Given the description of an element on the screen output the (x, y) to click on. 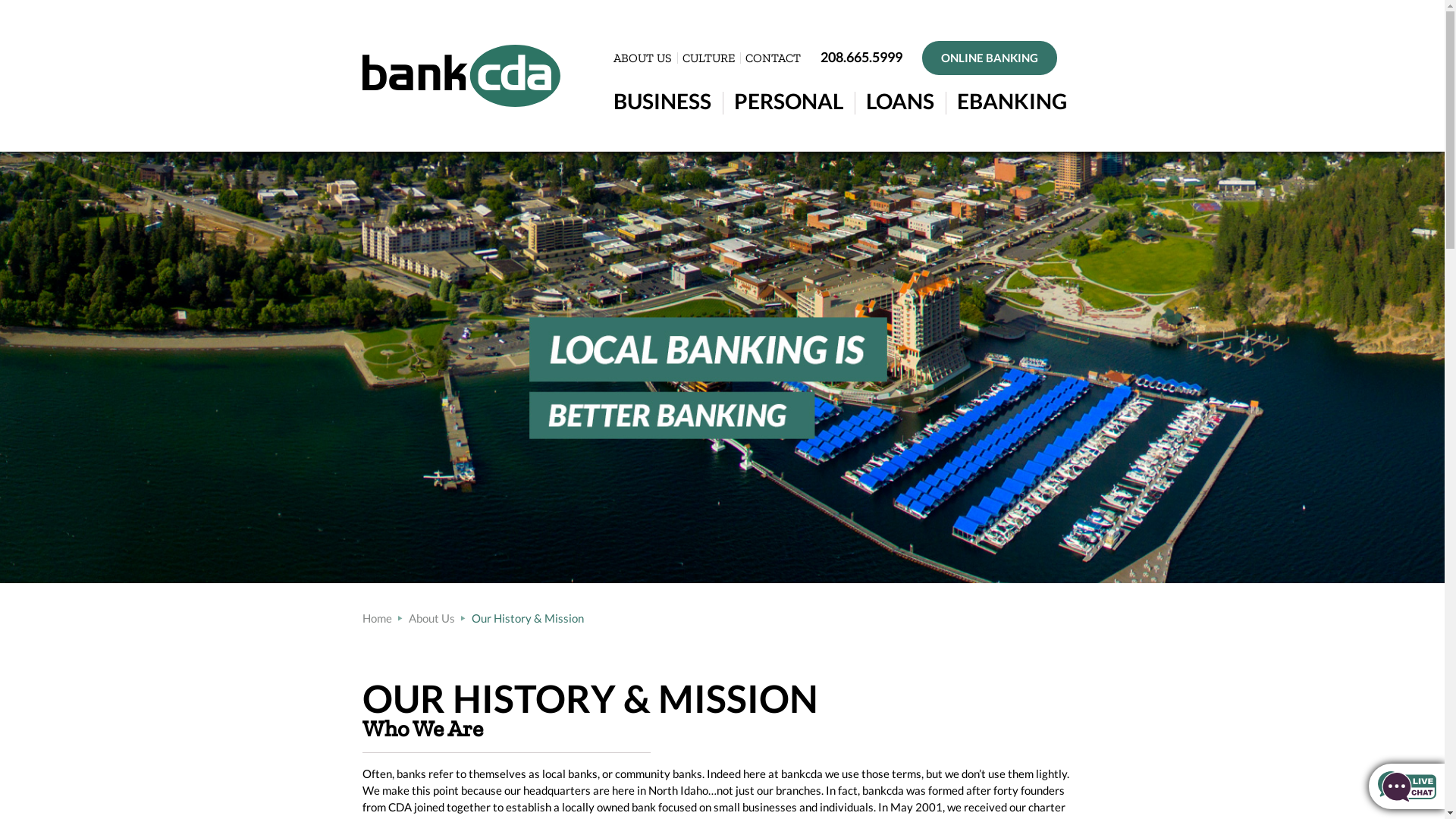
PERSONAL Element type: text (788, 99)
208.665.5999 Element type: text (861, 56)
EBANKING Element type: text (1011, 99)
ABOUT US Element type: text (641, 57)
CONTACT Element type: text (772, 57)
About Us Element type: text (430, 617)
LOANS Element type: text (900, 99)
BUSINESS Element type: text (661, 99)
ONLINE BANKING Element type: text (989, 57)
CULTURE Element type: text (708, 57)
Home Element type: text (377, 617)
